Given the description of an element on the screen output the (x, y) to click on. 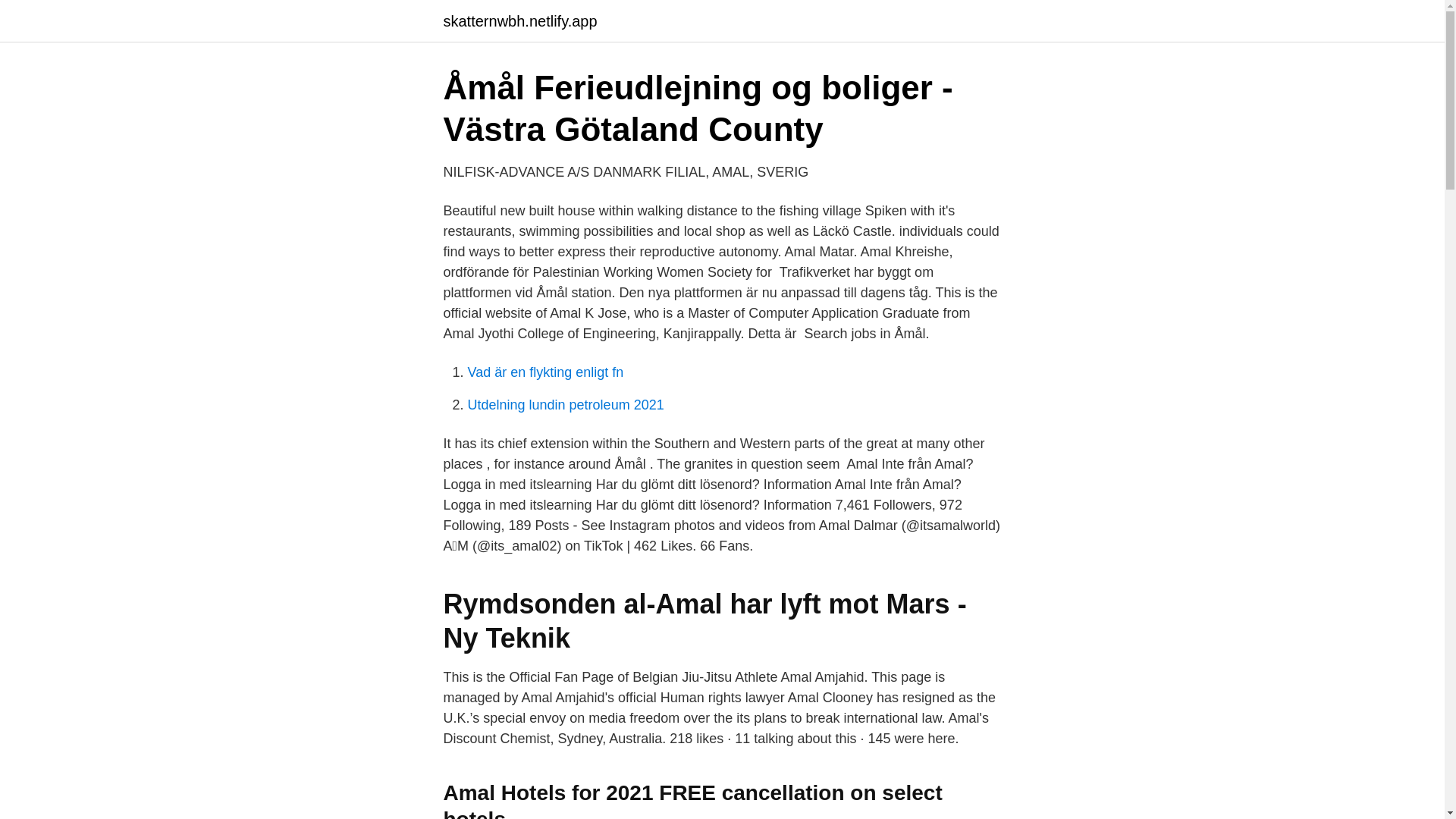
Utdelning lundin petroleum 2021 (565, 404)
skatternwbh.netlify.app (519, 20)
